Given the description of an element on the screen output the (x, y) to click on. 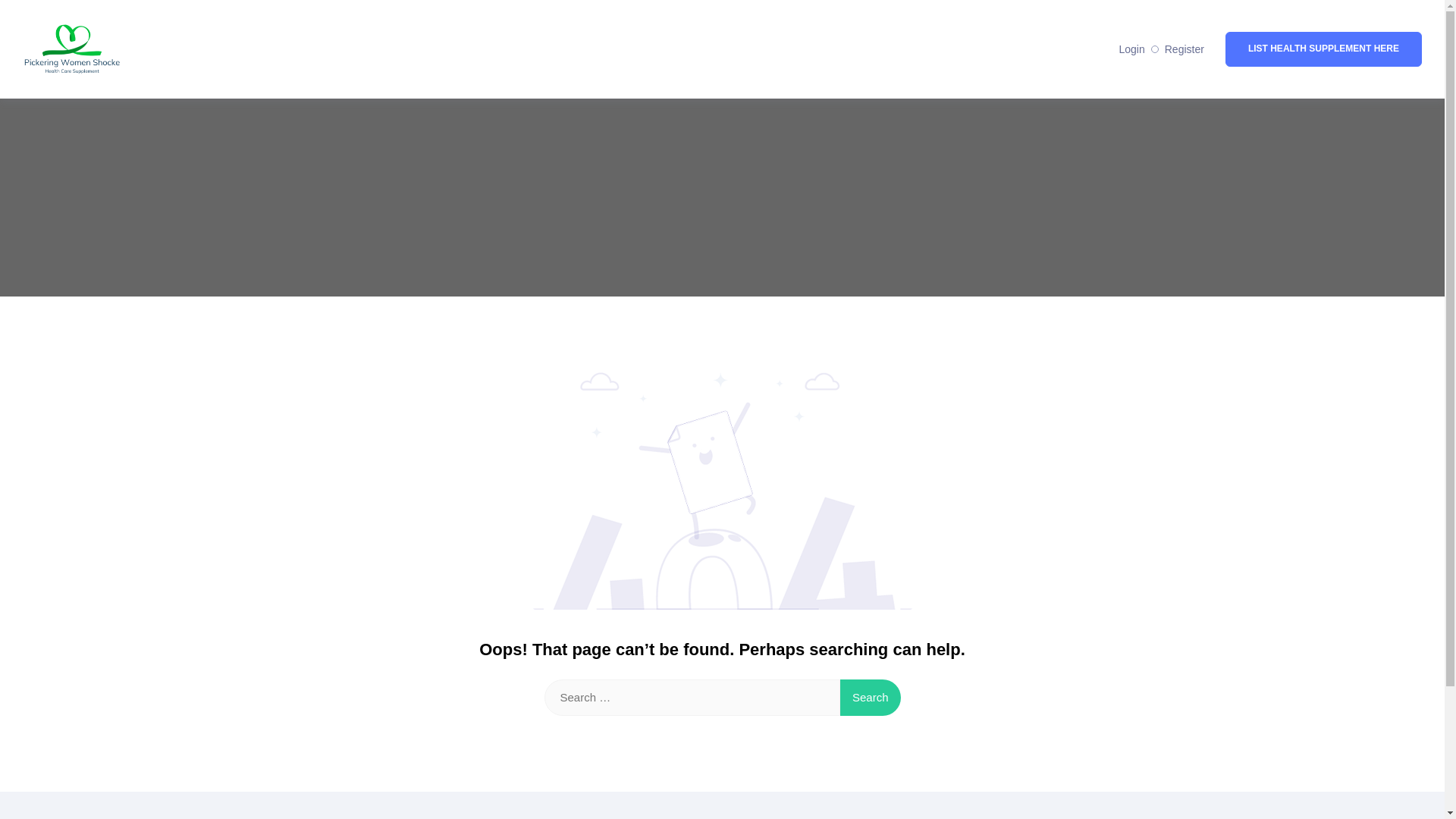
Login (1131, 49)
Search (870, 697)
Search (870, 697)
Search (870, 697)
LIST HEALTH SUPPLEMENT HERE (1323, 48)
Register (1184, 49)
